Given the description of an element on the screen output the (x, y) to click on. 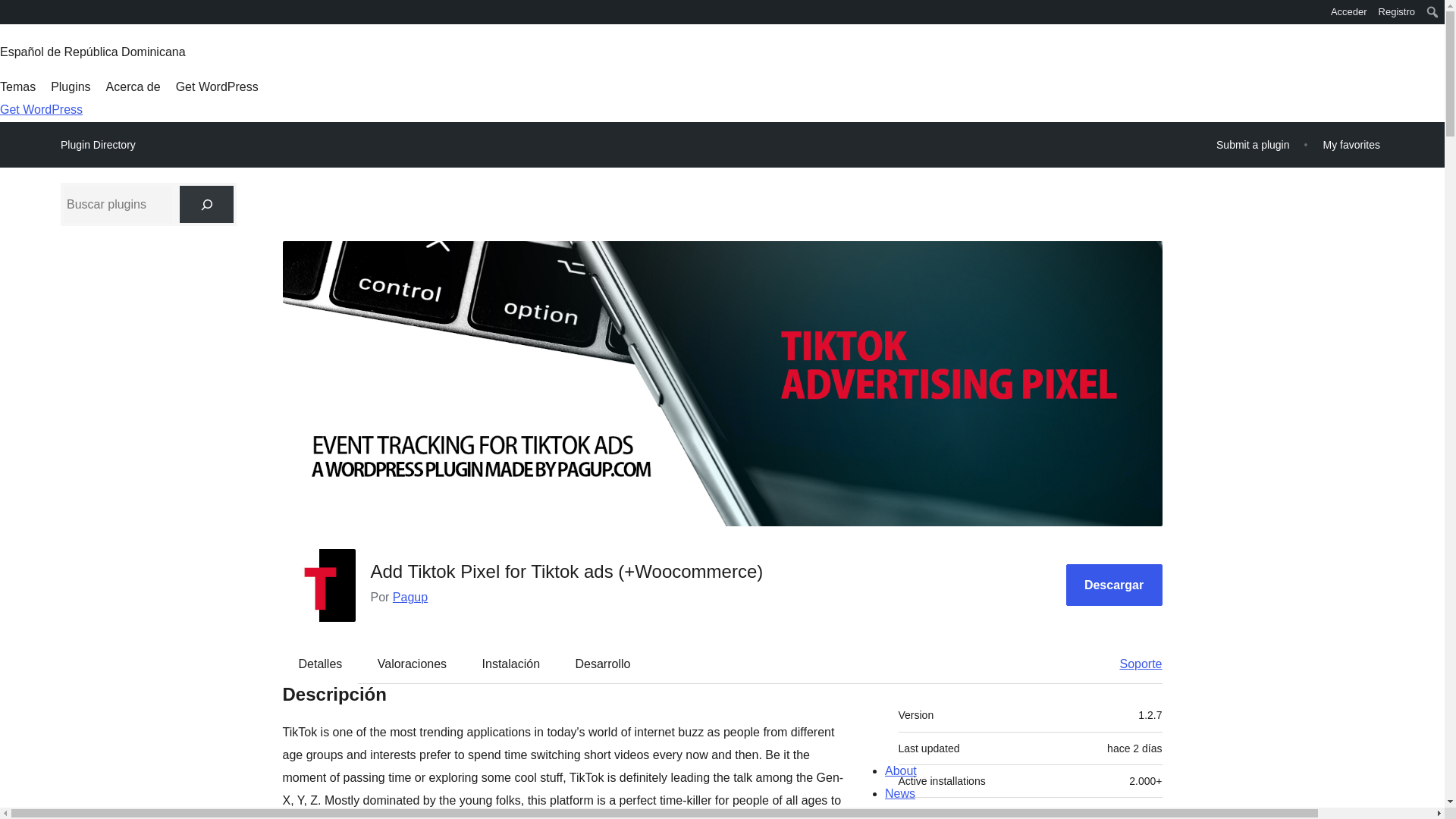
Plugins (70, 87)
WordPress.org (10, 10)
Registro (1397, 12)
Soporte (1132, 664)
Plugin Directory (97, 144)
WordPress.org (10, 16)
Buscar (16, 13)
Acerca de (133, 87)
Get WordPress (217, 87)
Detalles (320, 664)
Acceder (1348, 12)
My favorites (1351, 144)
Pagup (410, 596)
Desarrollo (602, 664)
Valoraciones (411, 664)
